Given the description of an element on the screen output the (x, y) to click on. 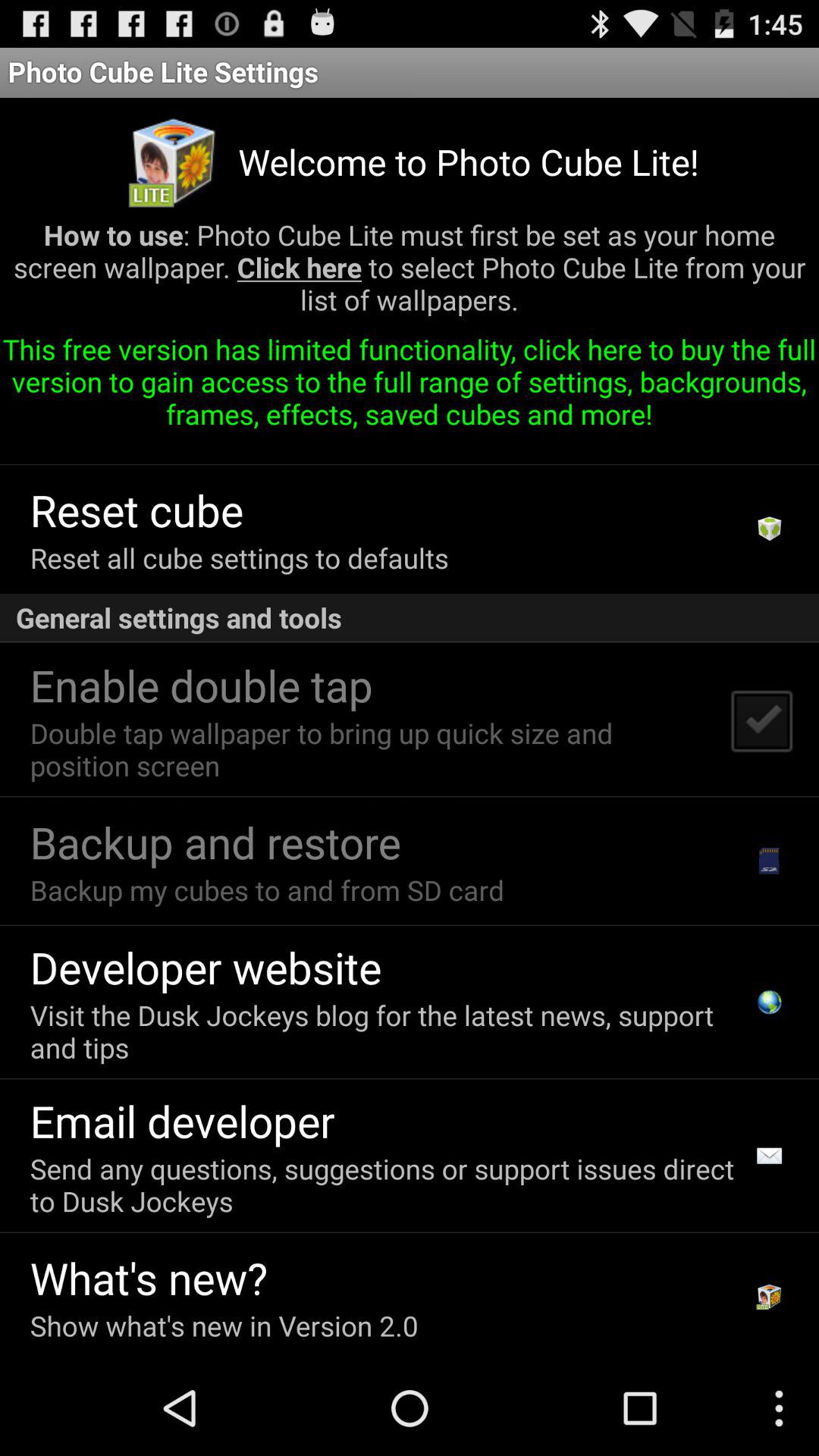
turn off send this cube icon (294, 446)
